Given the description of an element on the screen output the (x, y) to click on. 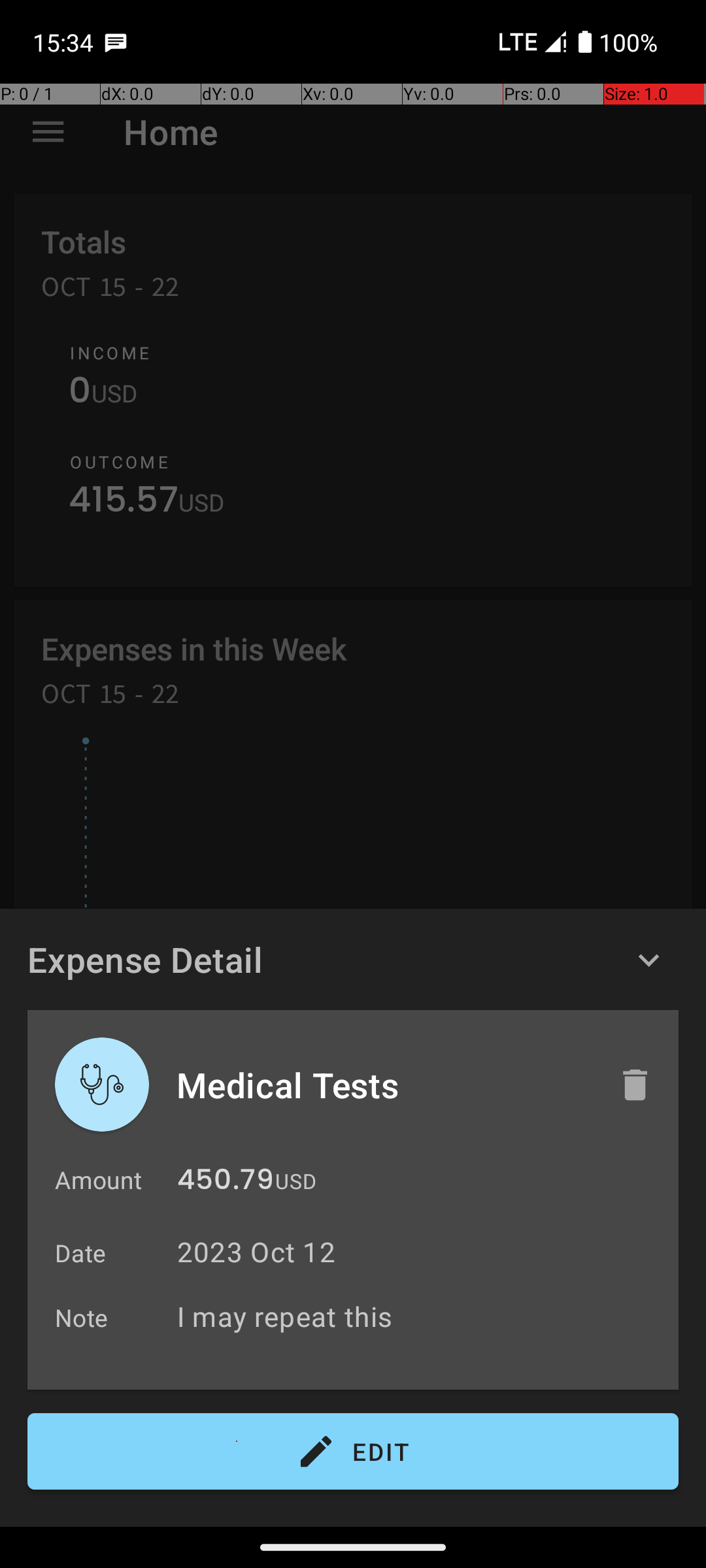
Medical Tests Element type: android.widget.TextView (383, 1084)
450.79 Element type: android.widget.TextView (225, 1182)
